Given the description of an element on the screen output the (x, y) to click on. 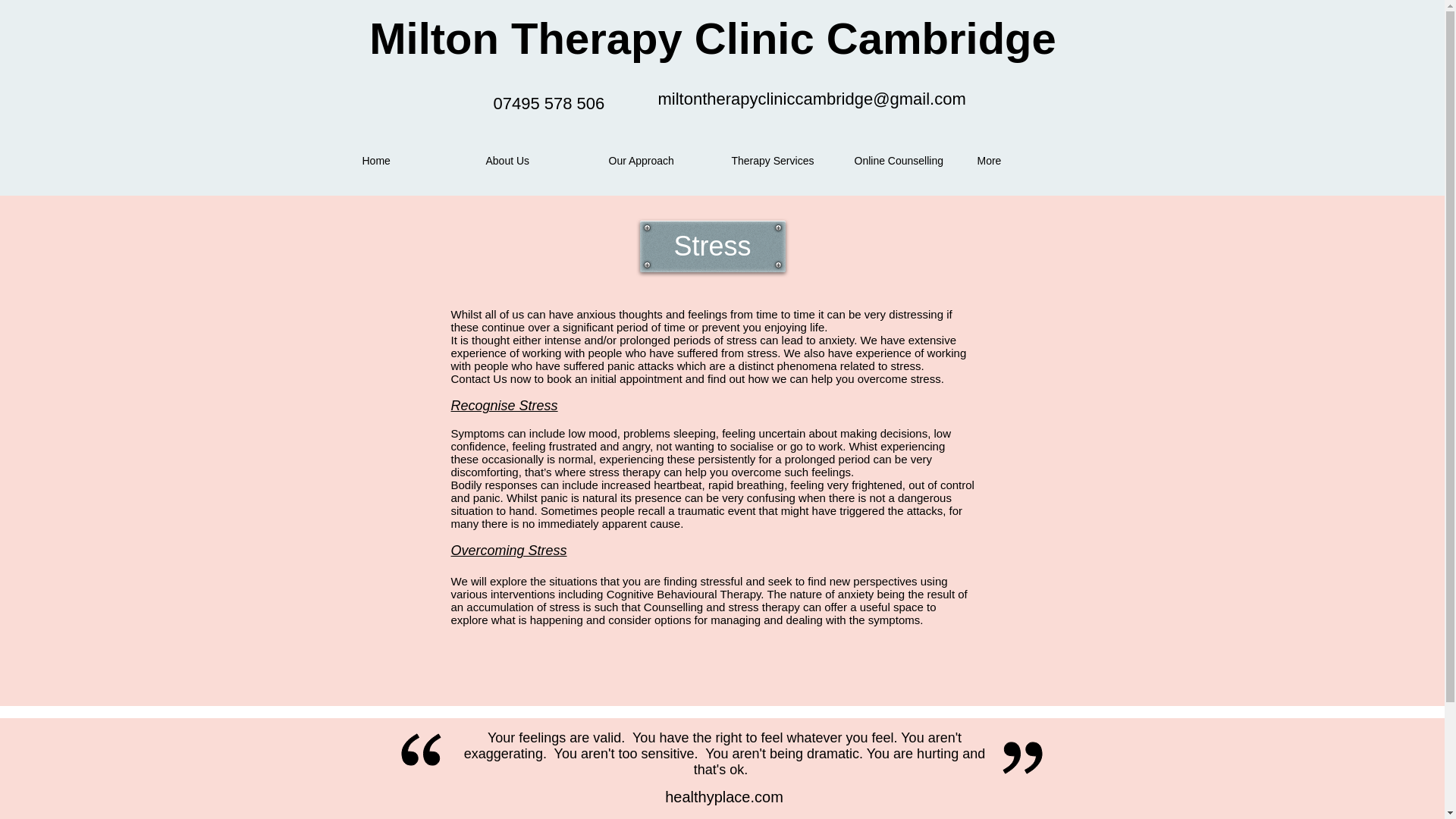
Home (412, 160)
Therapy Services (781, 160)
Our Approach (658, 160)
Stress (713, 245)
Cognitive Behavioural Therapy (684, 594)
Online Counselling (904, 160)
About Us (535, 160)
Counselling (673, 606)
